Given the description of an element on the screen output the (x, y) to click on. 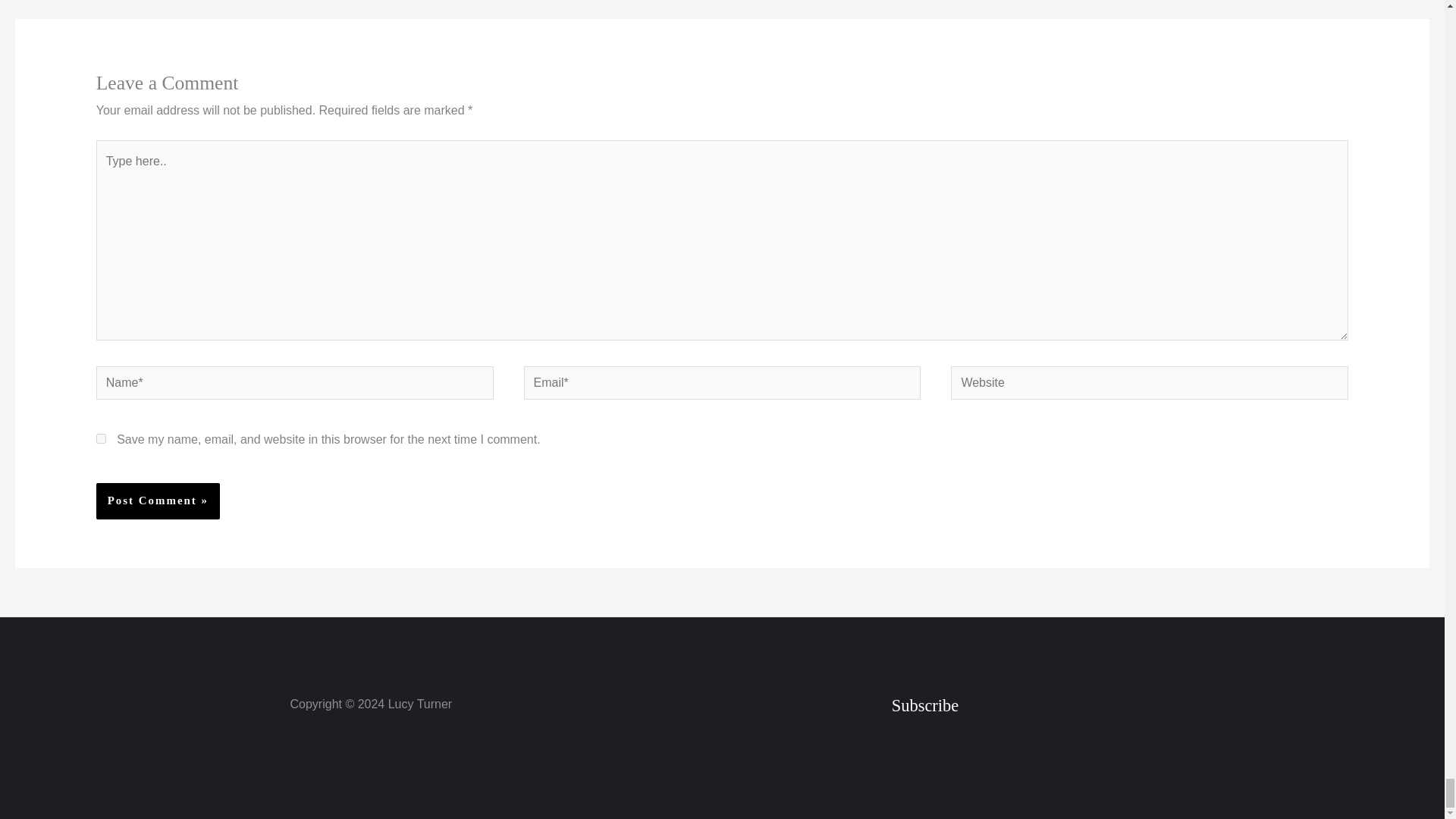
yes (101, 438)
